Given the description of an element on the screen output the (x, y) to click on. 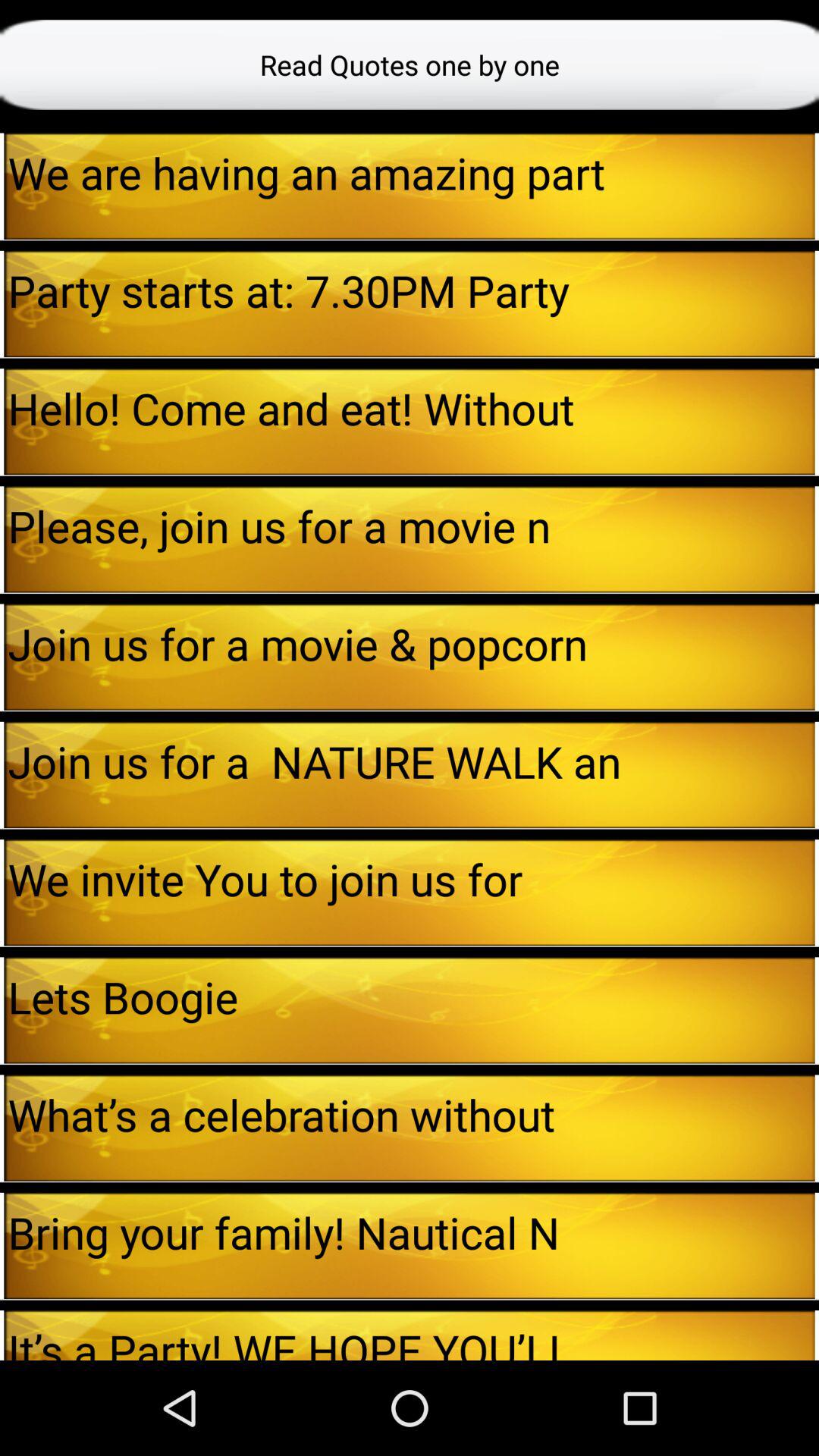
launch the icon next to it s a item (817, 1335)
